Given the description of an element on the screen output the (x, y) to click on. 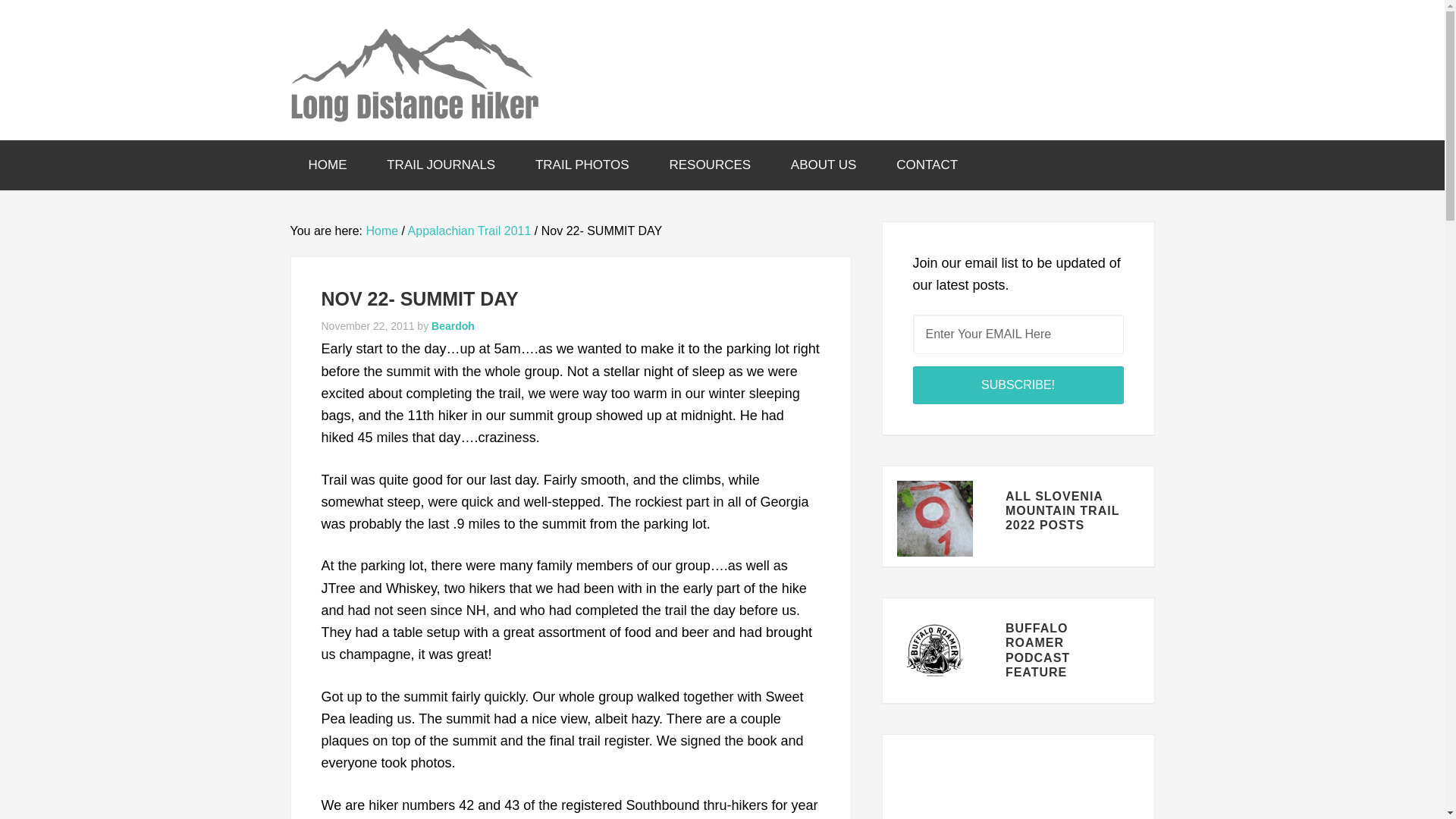
Home (381, 230)
CONTACT (926, 165)
SUBSCRIBE! (1018, 385)
HOME (327, 165)
ABOUT US (824, 165)
TRAIL JOURNALS (440, 165)
TRAIL PHOTOS (581, 165)
Long Distance Hiker (413, 68)
BUFFALO ROAMER PODCAST FEATURE (1038, 649)
Beardoh (452, 326)
Appalachian Trail 2011 (469, 230)
RESOURCES (709, 165)
ALL SLOVENIA MOUNTAIN TRAIL 2022 POSTS (1062, 510)
SUBSCRIBE! (1018, 385)
